Given the description of an element on the screen output the (x, y) to click on. 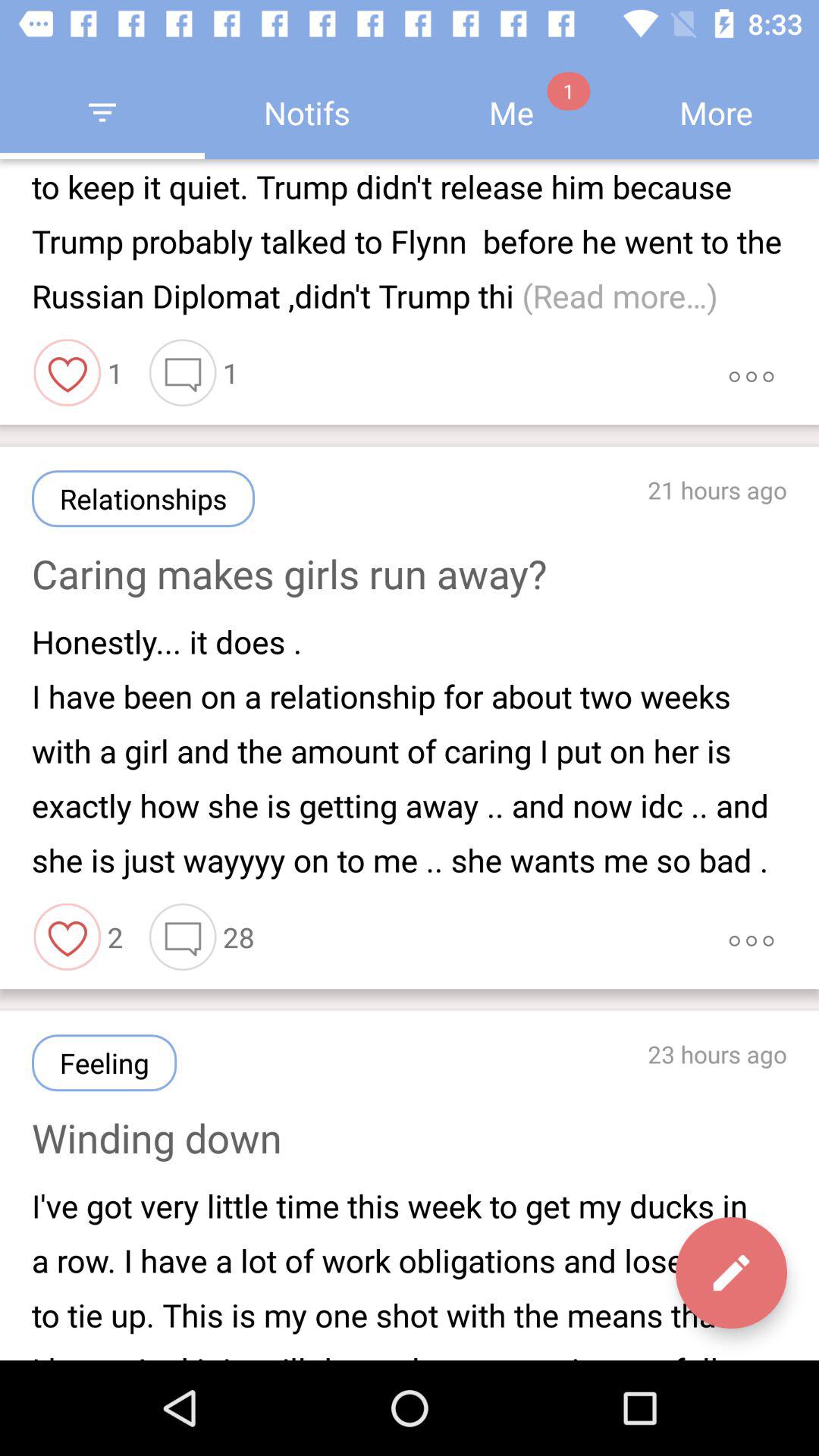
tap relationships icon (142, 498)
